Given the description of an element on the screen output the (x, y) to click on. 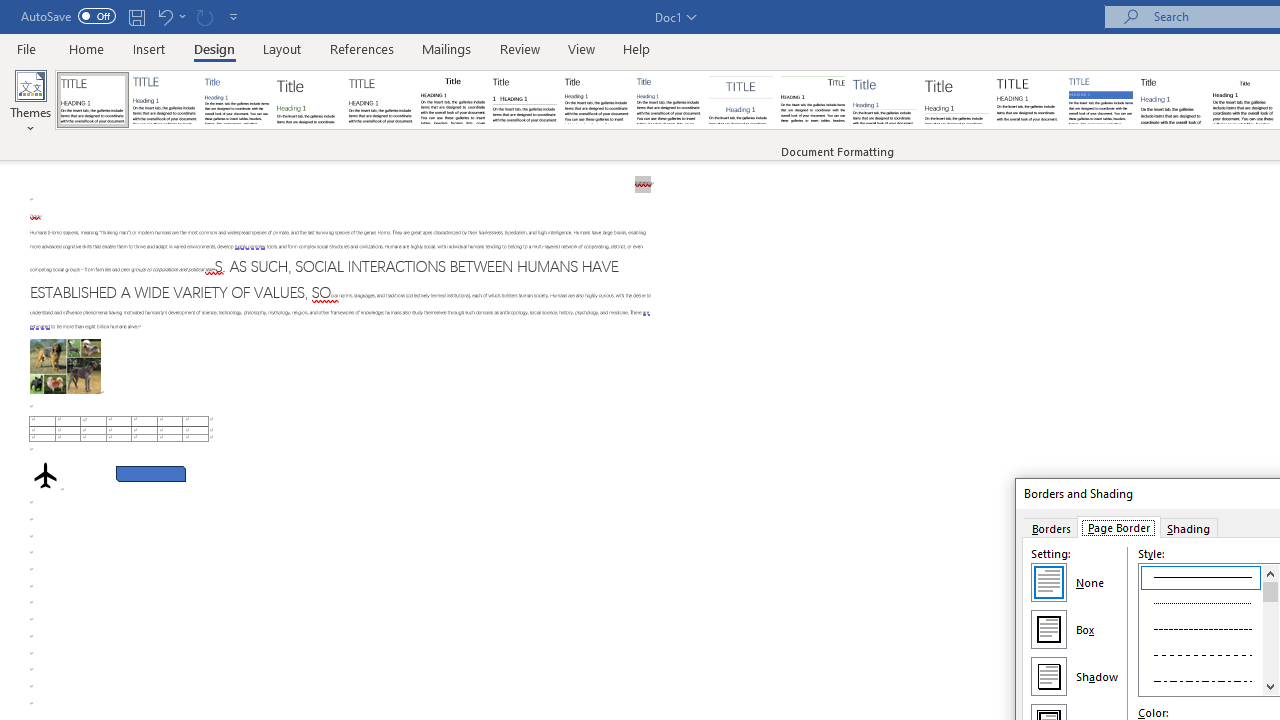
Page Border (1118, 527)
Undo Paragraph Alignment (164, 15)
Morphological variation in six dogs (65, 366)
Line down (1270, 686)
Shaded (1100, 100)
Black & White (Numbered) (524, 100)
Basic (Elegant) (164, 100)
Black & White (Word 2013) (596, 100)
